Given the description of an element on the screen output the (x, y) to click on. 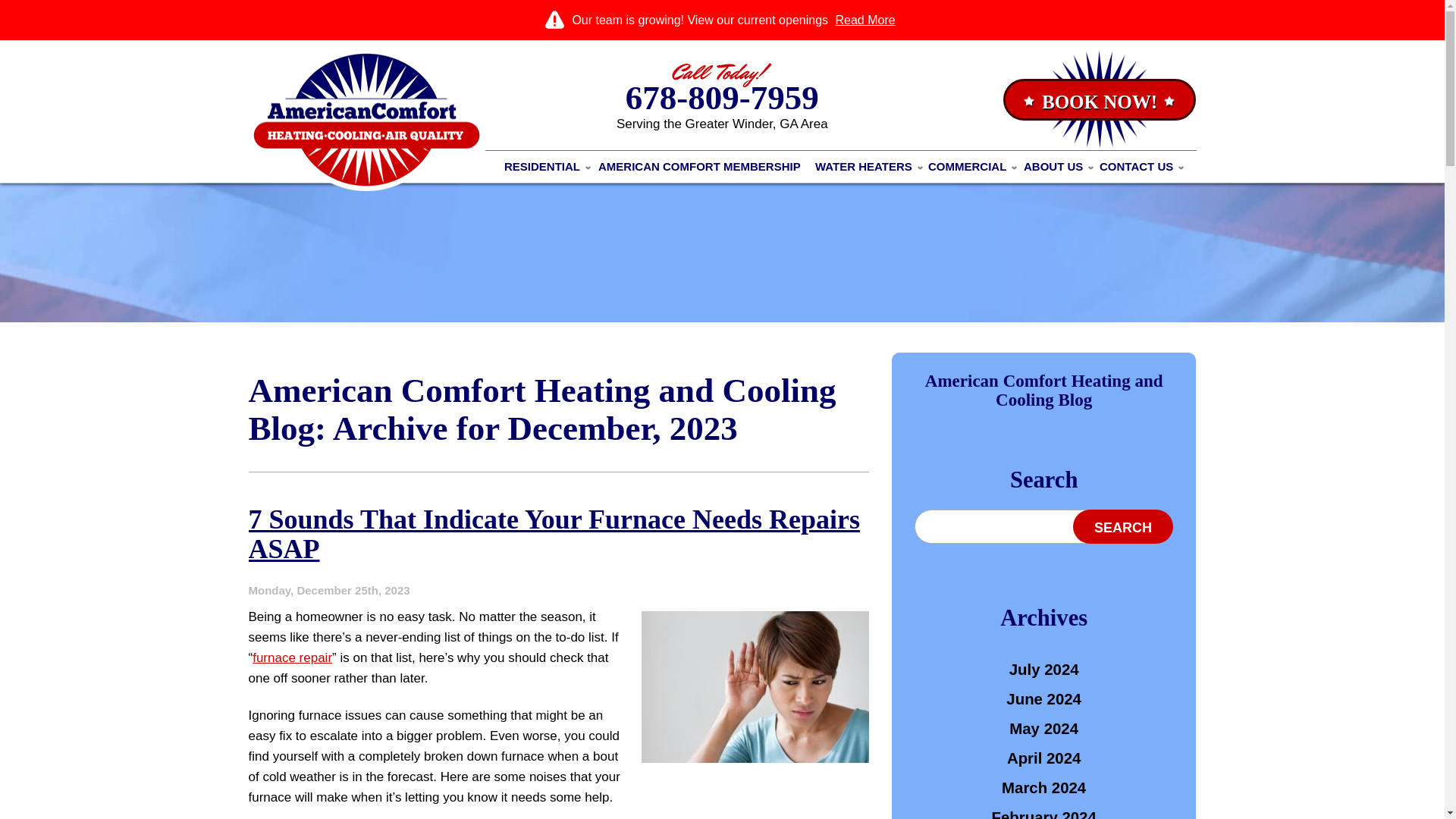
WATER HEATERS (866, 166)
AMERICAN COMFORT MEMBERSHIP (699, 166)
678-809-7959 (722, 97)
RESIDENTIAL (544, 166)
COMMERCIAL (968, 166)
Read More (864, 19)
BOOK NOW! (1099, 99)
